Given the description of an element on the screen output the (x, y) to click on. 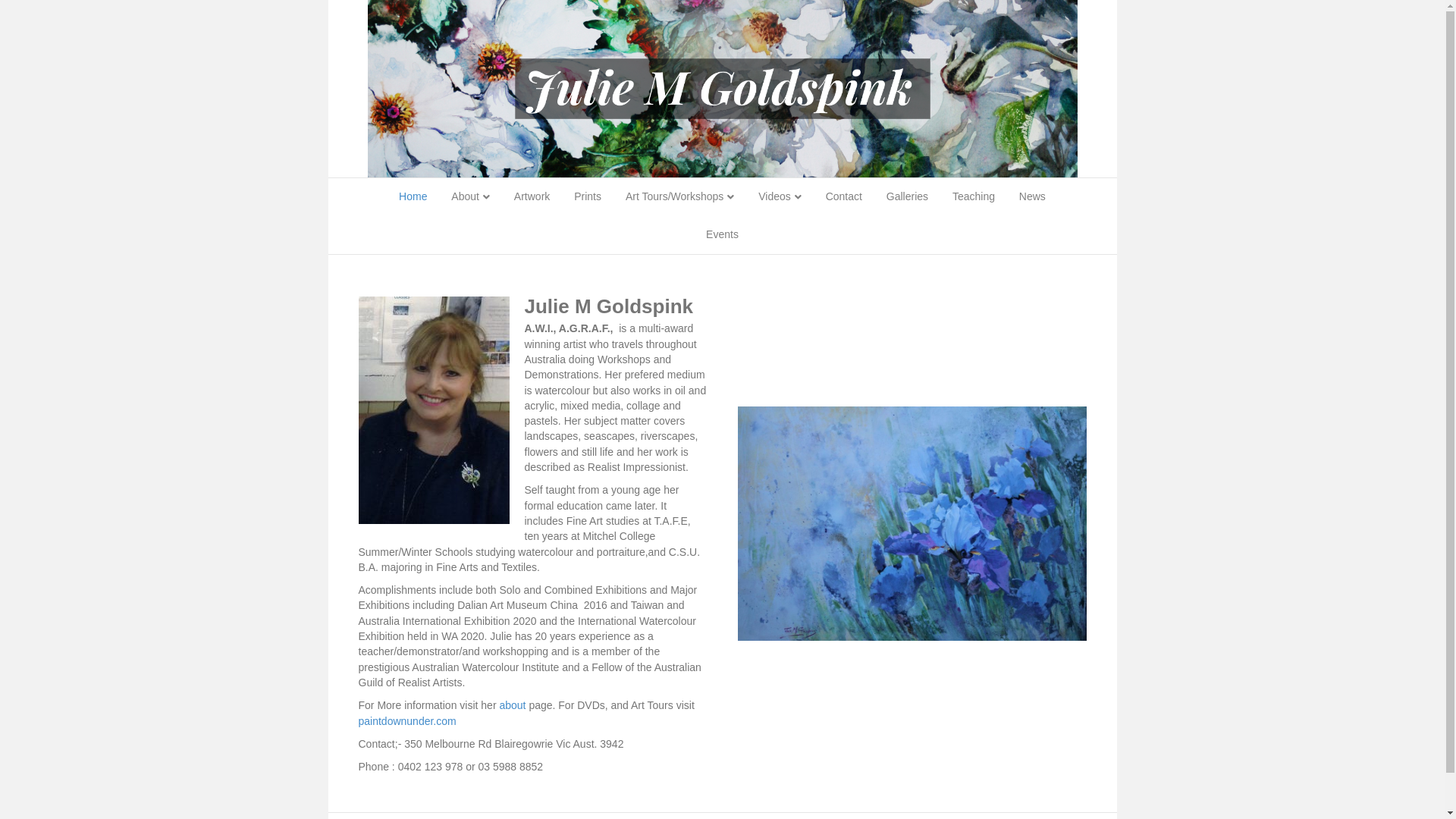
Videos Element type: text (779, 197)
Art Tours/Workshops Element type: text (679, 197)
about Element type: text (511, 705)
Galleries Element type: text (906, 197)
Prints Element type: text (587, 197)
Artwork Element type: text (531, 197)
Teaching Element type: text (973, 197)
News Element type: text (1032, 197)
About Element type: text (470, 197)
Contact Element type: text (843, 197)
Home Element type: text (412, 197)
paintdownunder.com Element type: text (406, 720)
Events Element type: text (722, 235)
